Given the description of an element on the screen output the (x, y) to click on. 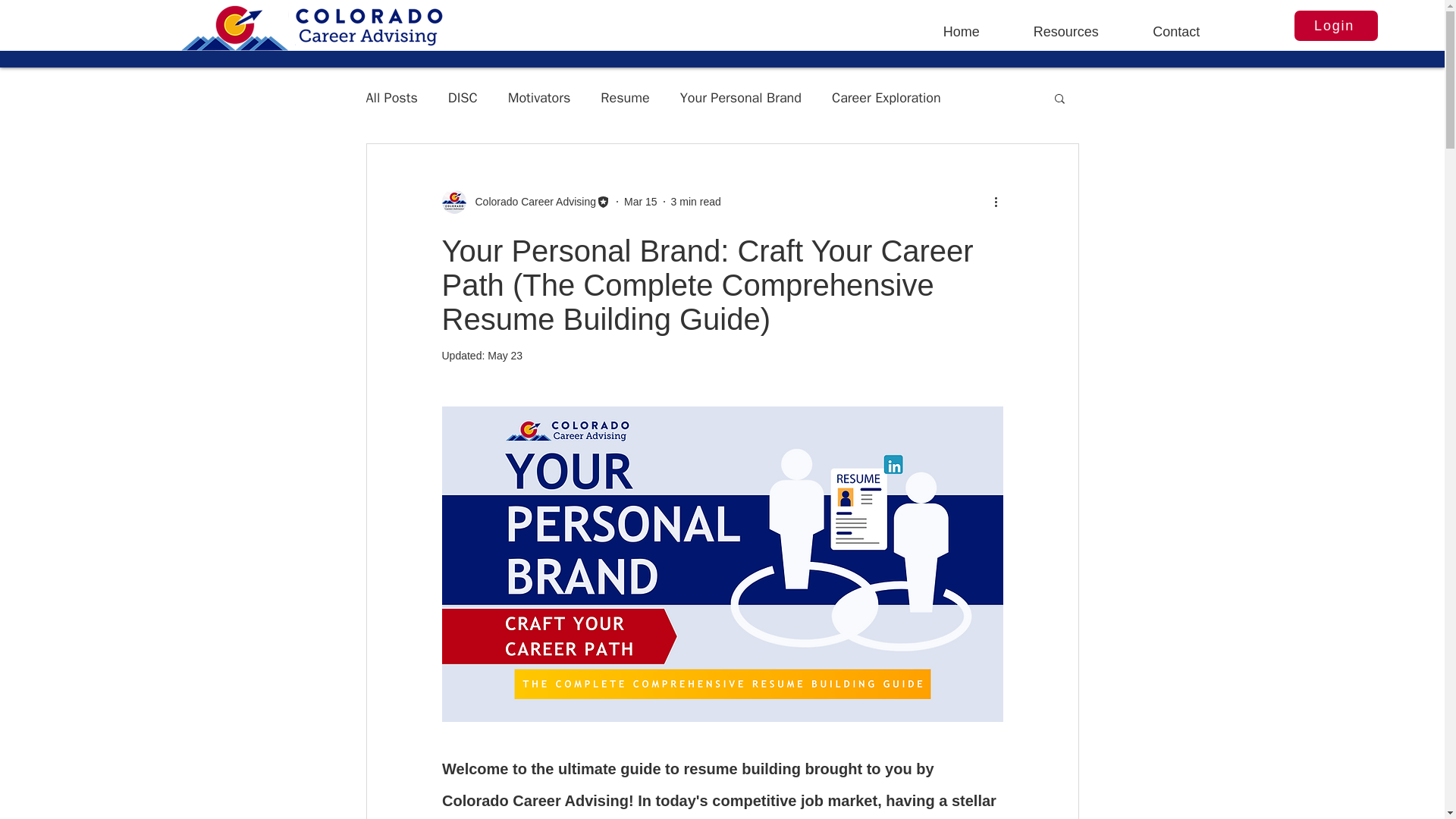
Login (1335, 25)
Resume (624, 97)
Mar 15 (641, 201)
All Posts (390, 97)
Colorado Career Advising (530, 201)
Motivators (539, 97)
Home (961, 24)
Your Personal Brand (740, 97)
Career Exploration (885, 97)
May 23 (504, 355)
